Given the description of an element on the screen output the (x, y) to click on. 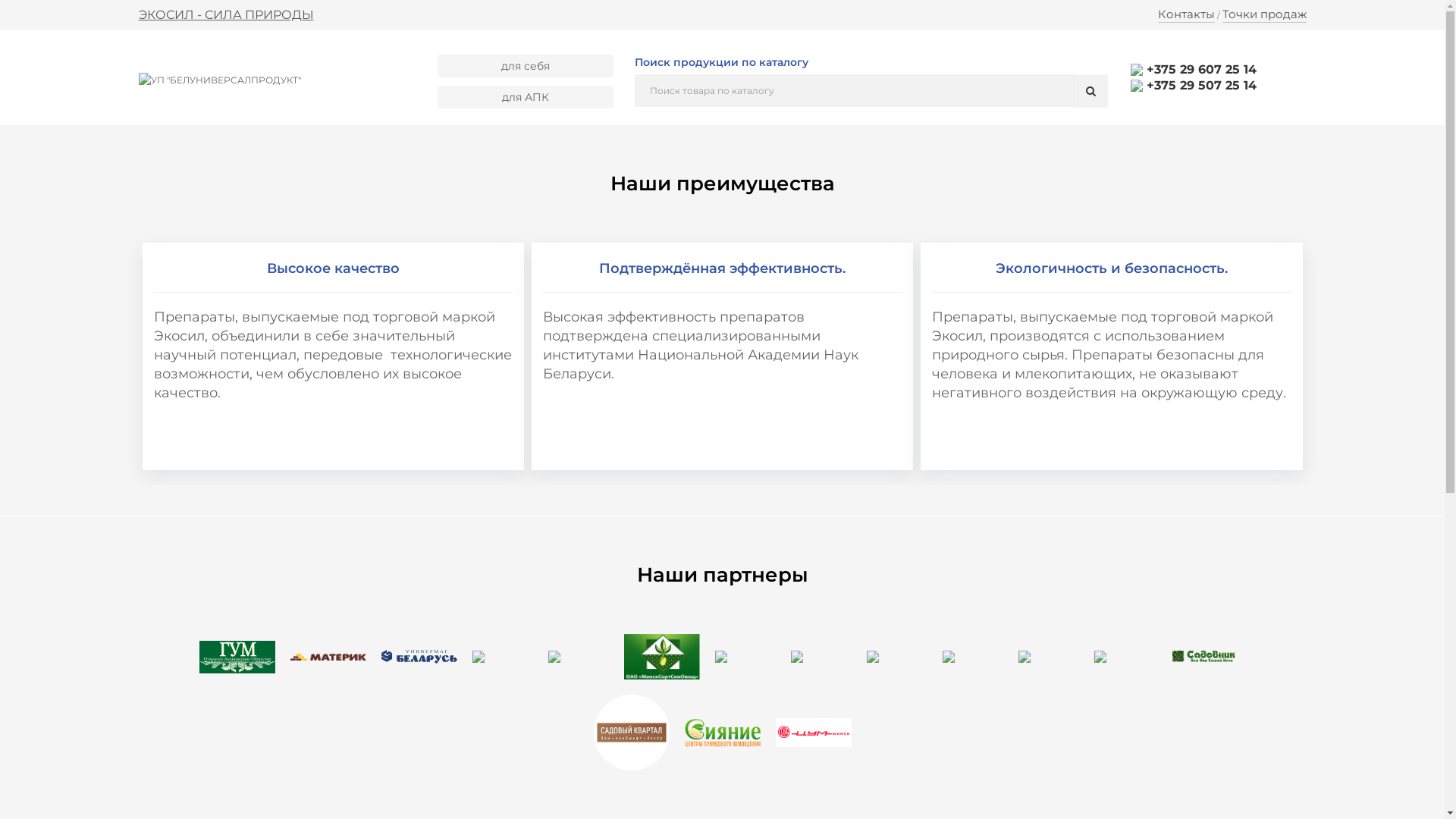
+375 29 507 25 14 Element type: text (1193, 84)
+375 29 607 25 14 Element type: text (1193, 69)
